Given the description of an element on the screen output the (x, y) to click on. 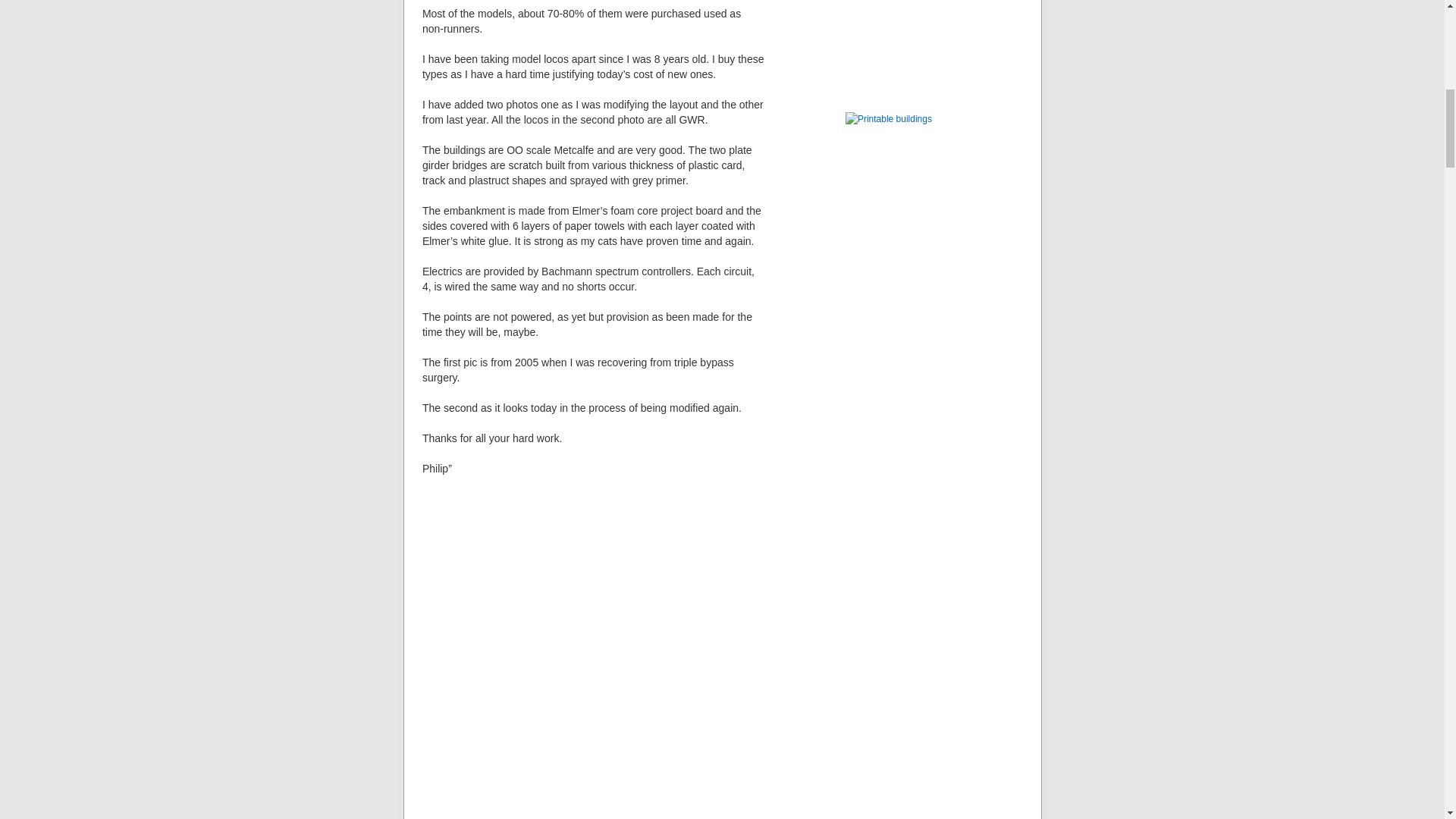
Advertisement (921, 20)
